Given the description of an element on the screen output the (x, y) to click on. 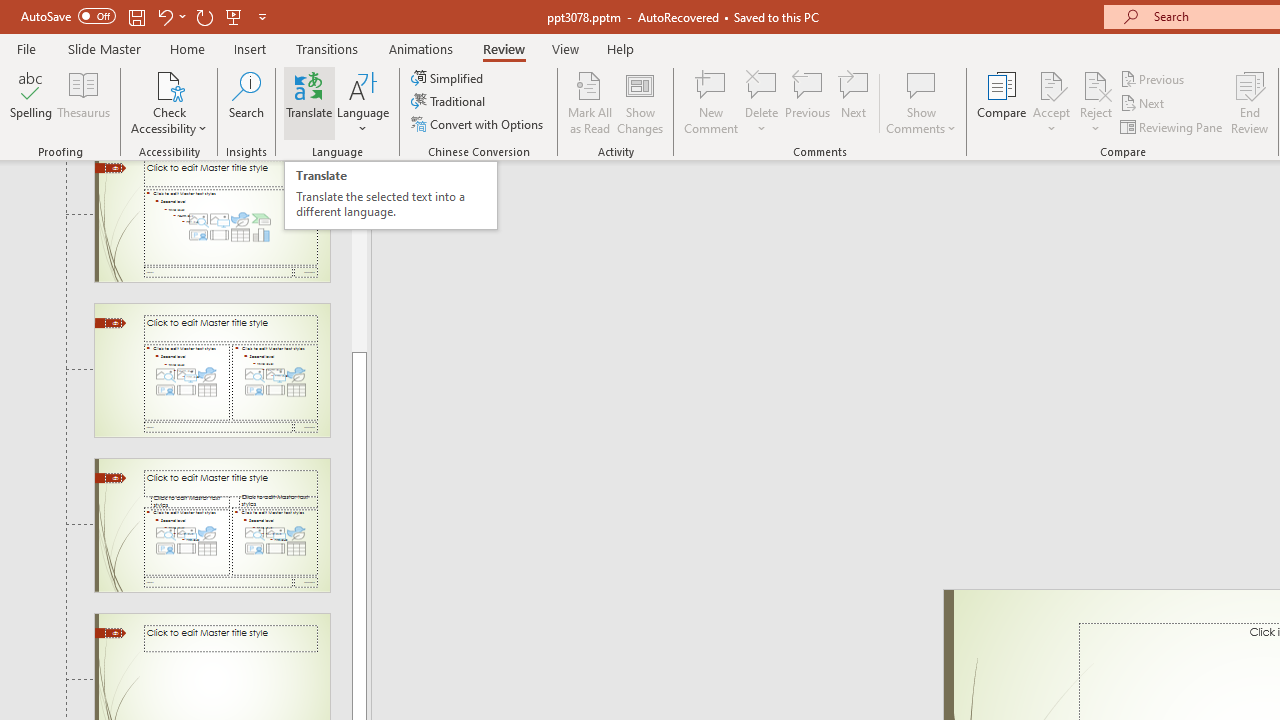
Page up (359, 264)
Show Comments (921, 102)
Reviewing Pane (1172, 126)
